Given the description of an element on the screen output the (x, y) to click on. 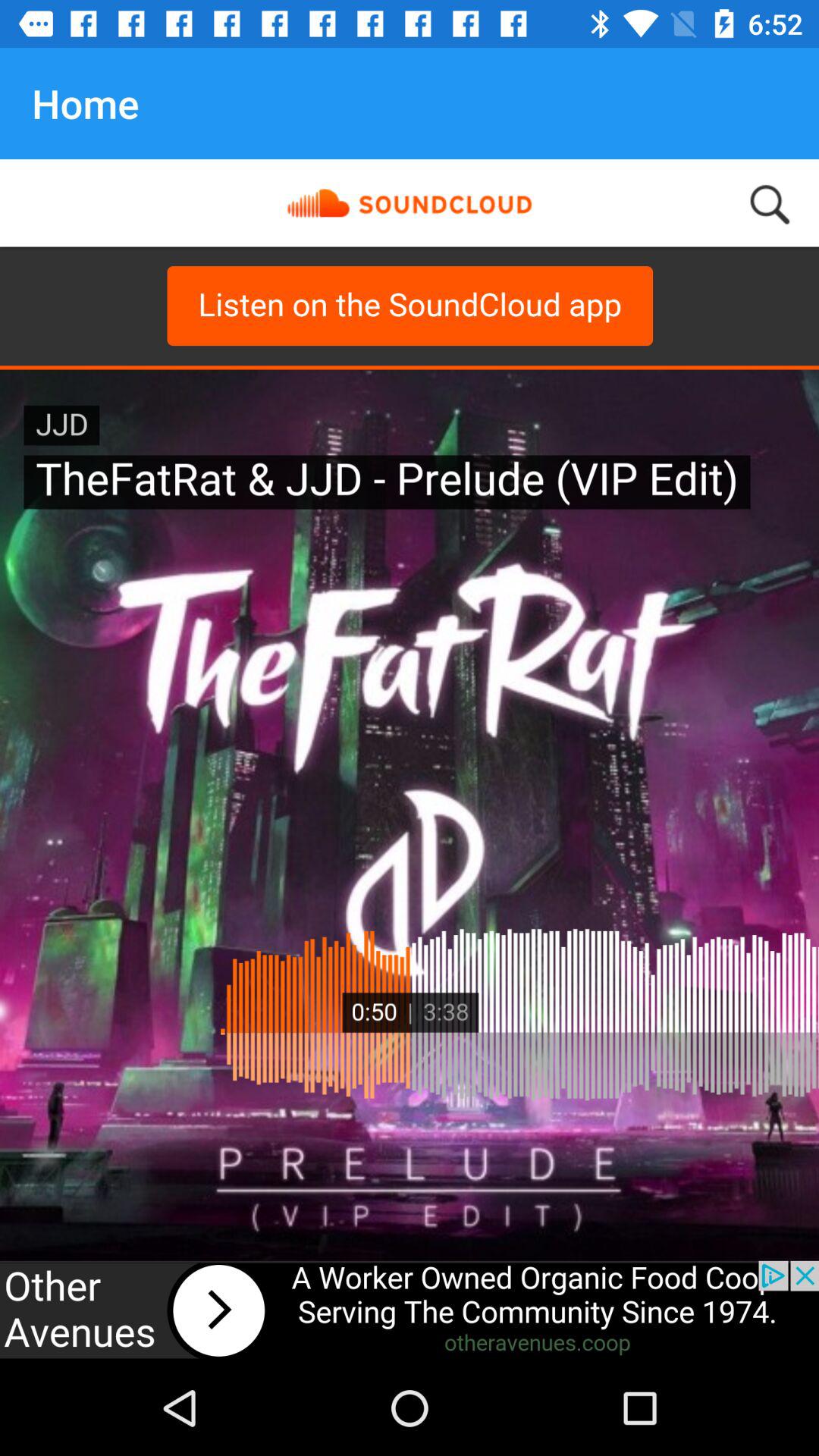
play the song (409, 1310)
